Given the description of an element on the screen output the (x, y) to click on. 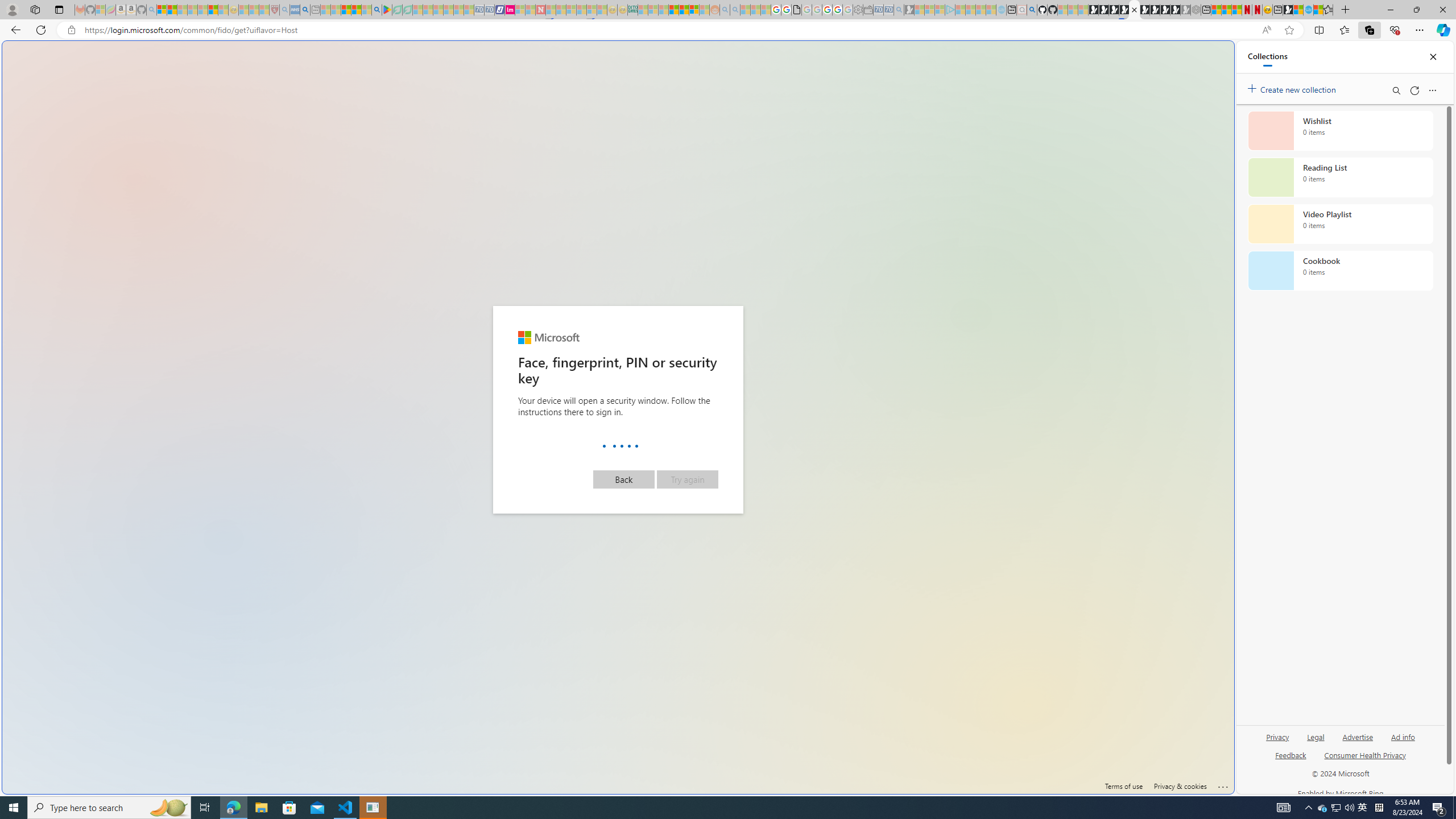
Expert Portfolios (673, 9)
Search or enter web address (922, 108)
Organization background image (618, 416)
